Given the description of an element on the screen output the (x, y) to click on. 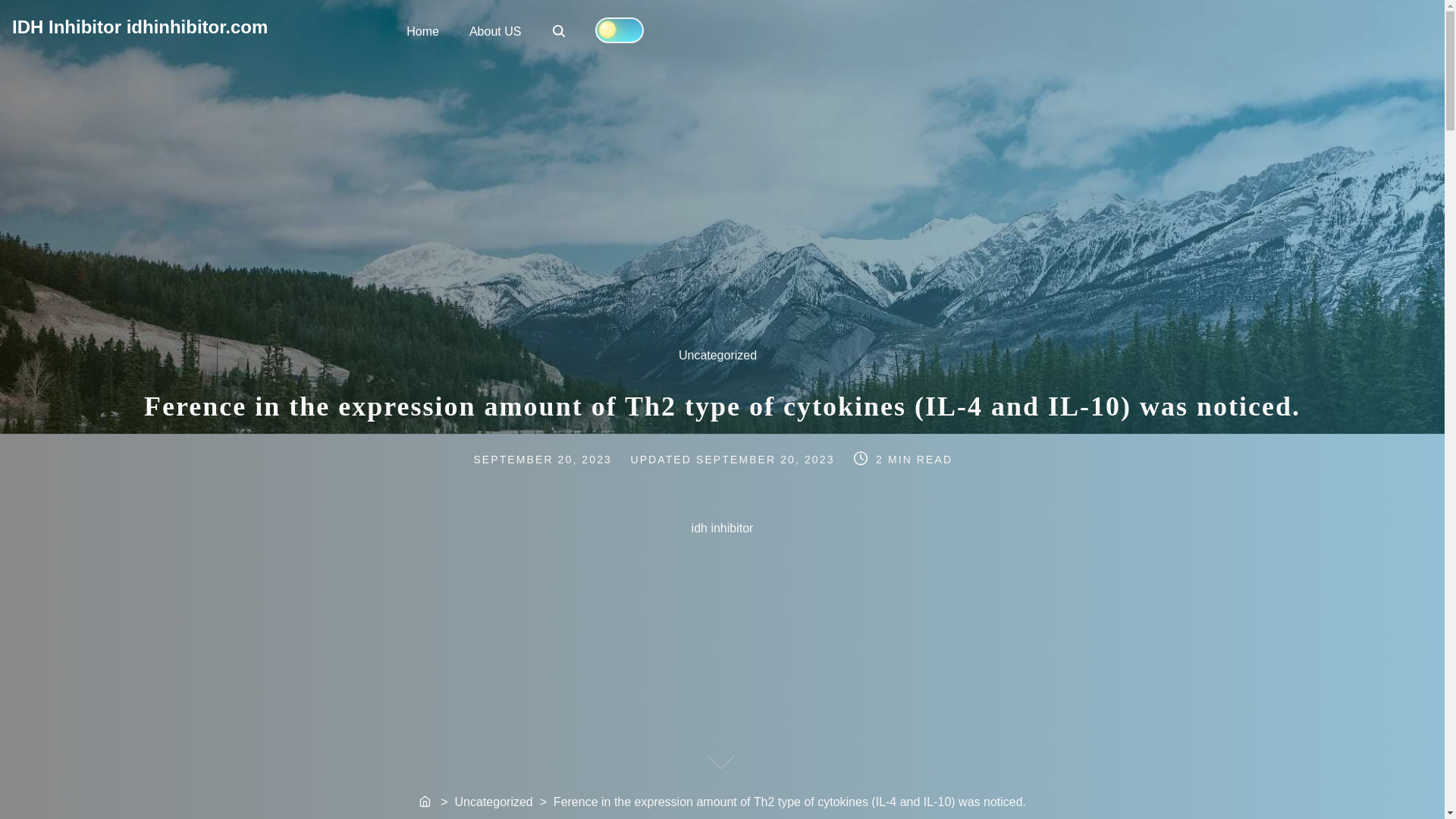
Search (558, 30)
Home (422, 30)
About US (494, 30)
SEPTEMBER 20, 2023 (766, 459)
Home (426, 802)
SEPTEMBER 20, 2023 (558, 458)
IDH Inhibitor idhinhibitor.com (139, 26)
Uncategorized (559, 31)
